Given the description of an element on the screen output the (x, y) to click on. 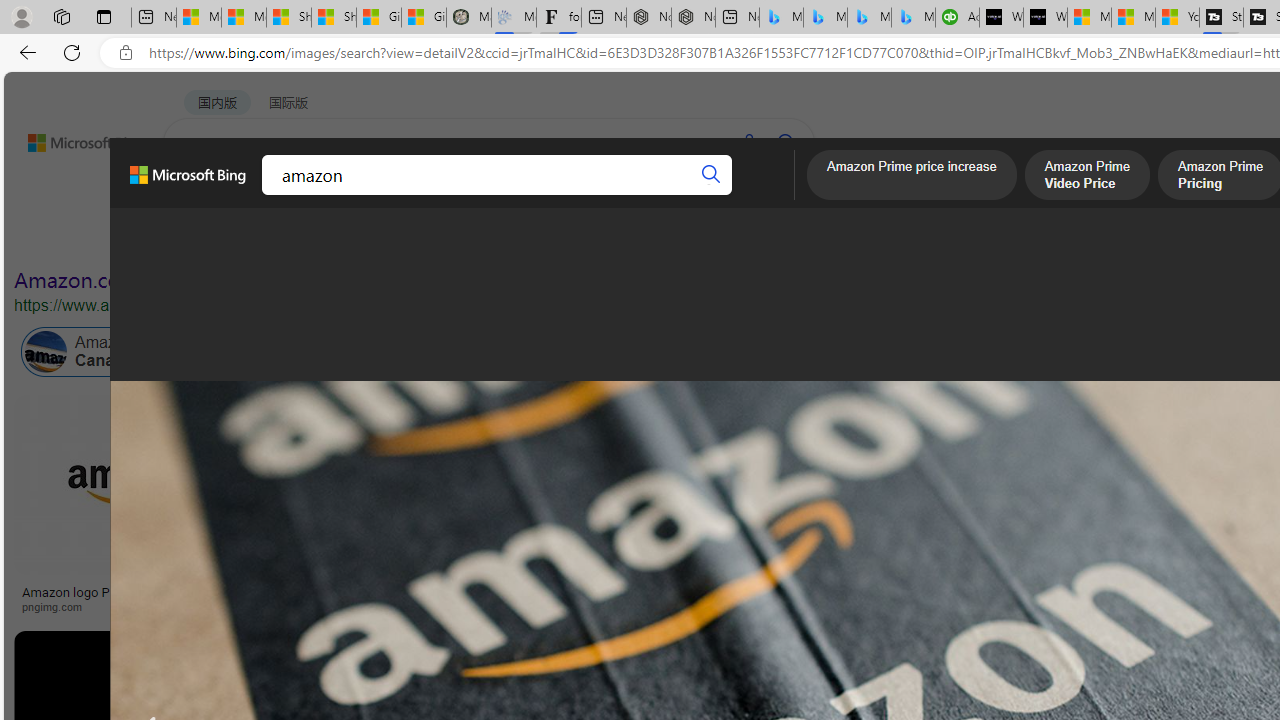
Dropdown Menu (779, 195)
Image result for amazon (923, 675)
Image size (222, 237)
Alexa Smart Home Devices (1183, 584)
Layout (443, 237)
Date (591, 237)
pngimg.com (133, 606)
Alexa Smart Home Devices (1183, 584)
Type (372, 237)
